Given the description of an element on the screen output the (x, y) to click on. 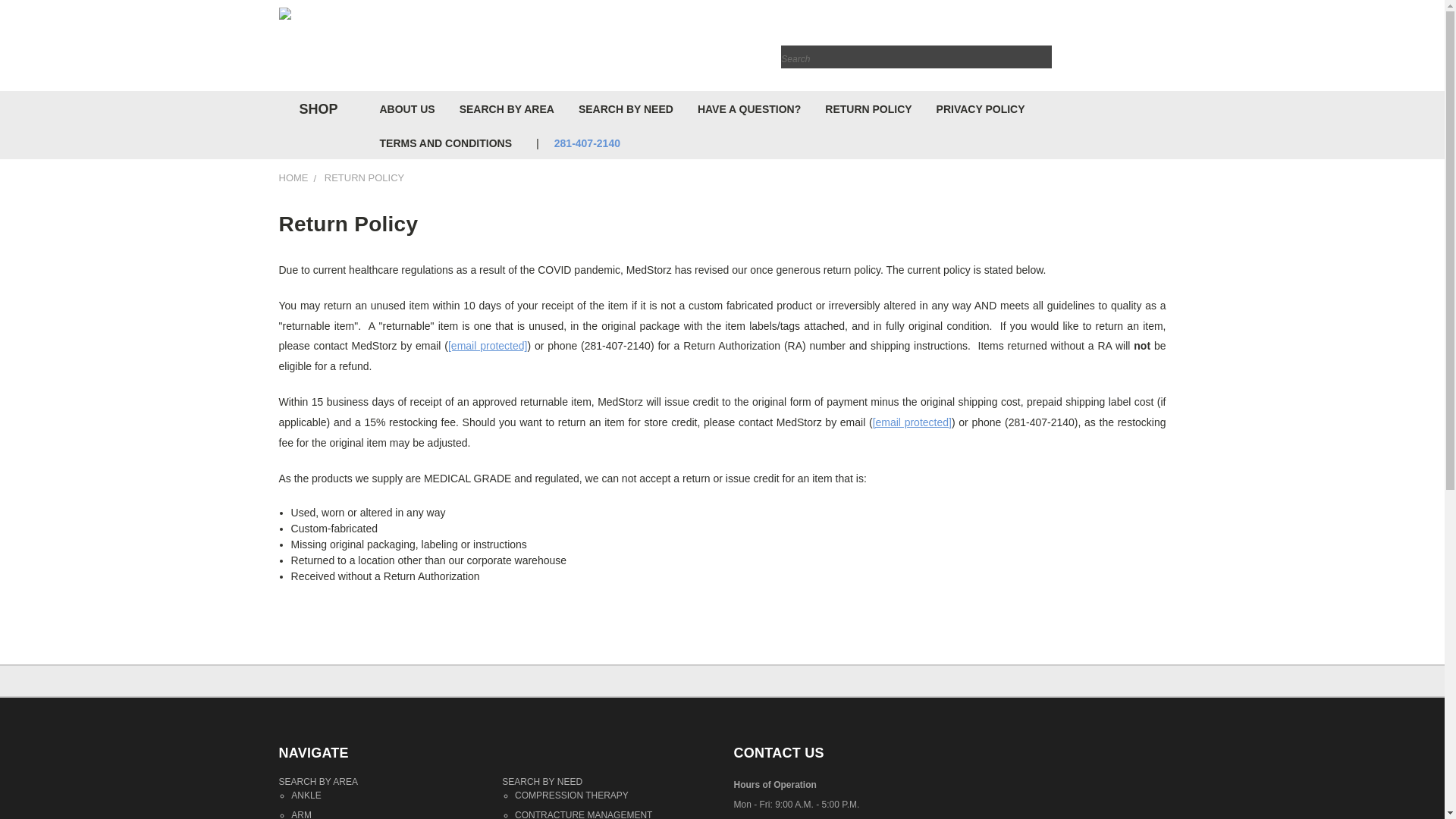
User Toolbox (1135, 48)
Submit Search (1039, 47)
Cart (1161, 48)
SHOP (314, 109)
